Given the description of an element on the screen output the (x, y) to click on. 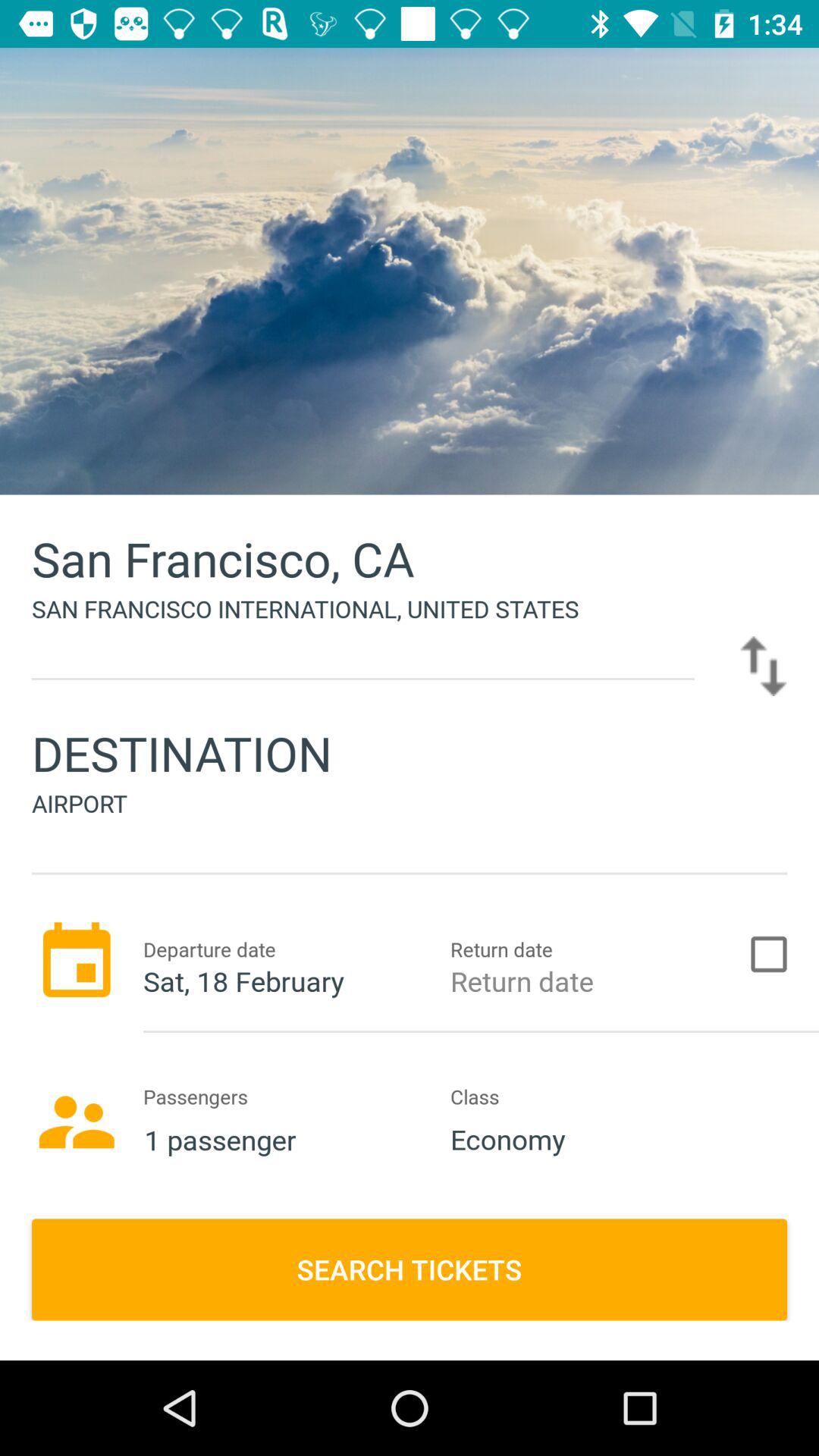
choose search tickets icon (409, 1269)
